Given the description of an element on the screen output the (x, y) to click on. 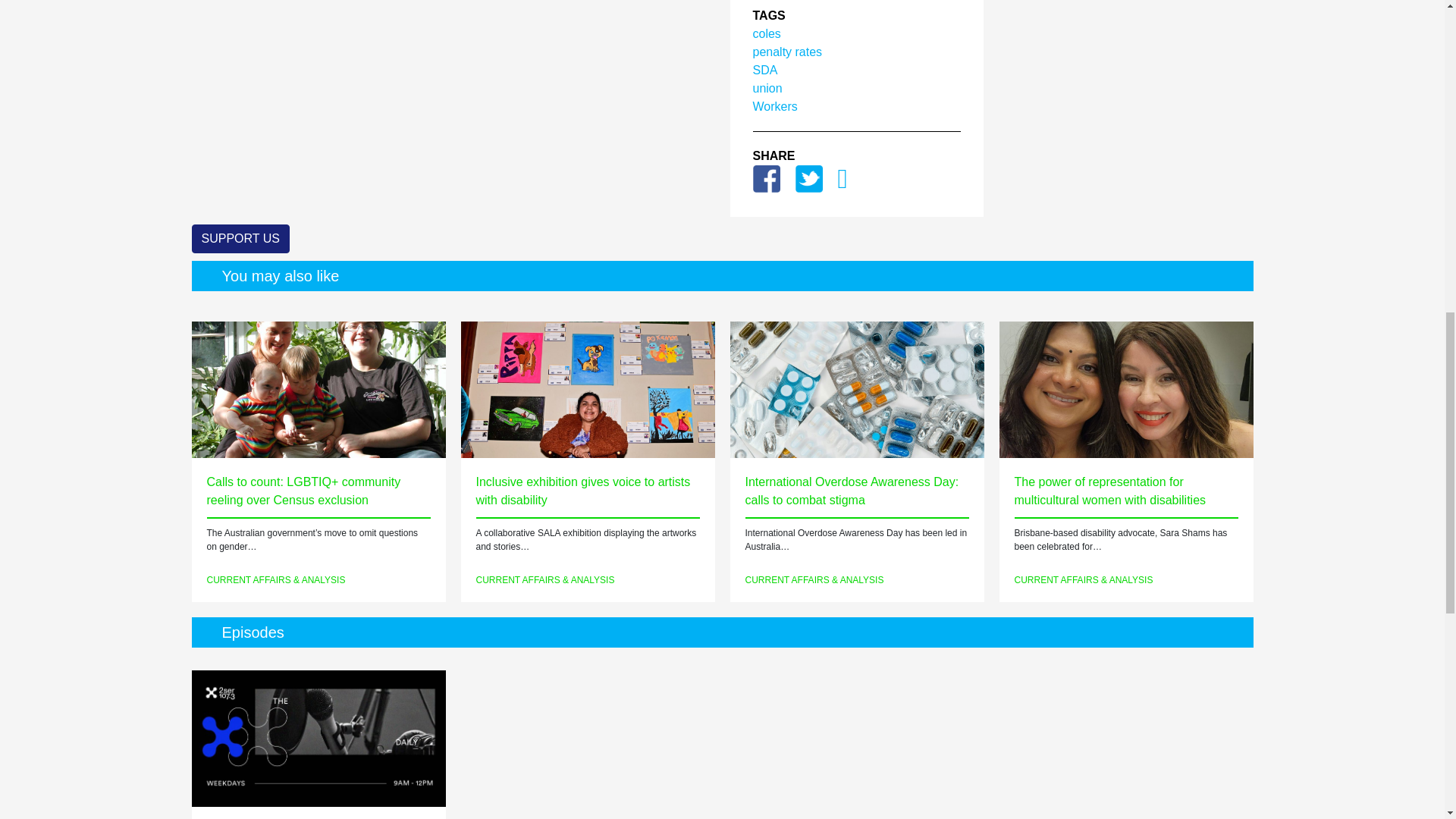
coles (766, 33)
Tweet (808, 177)
penalty rates (787, 51)
Share on Facebook (765, 177)
union (766, 88)
Workers (774, 106)
SUPPORT US (239, 238)
Tweet (808, 177)
Share on Facebook (765, 177)
SDA (764, 69)
